Given the description of an element on the screen output the (x, y) to click on. 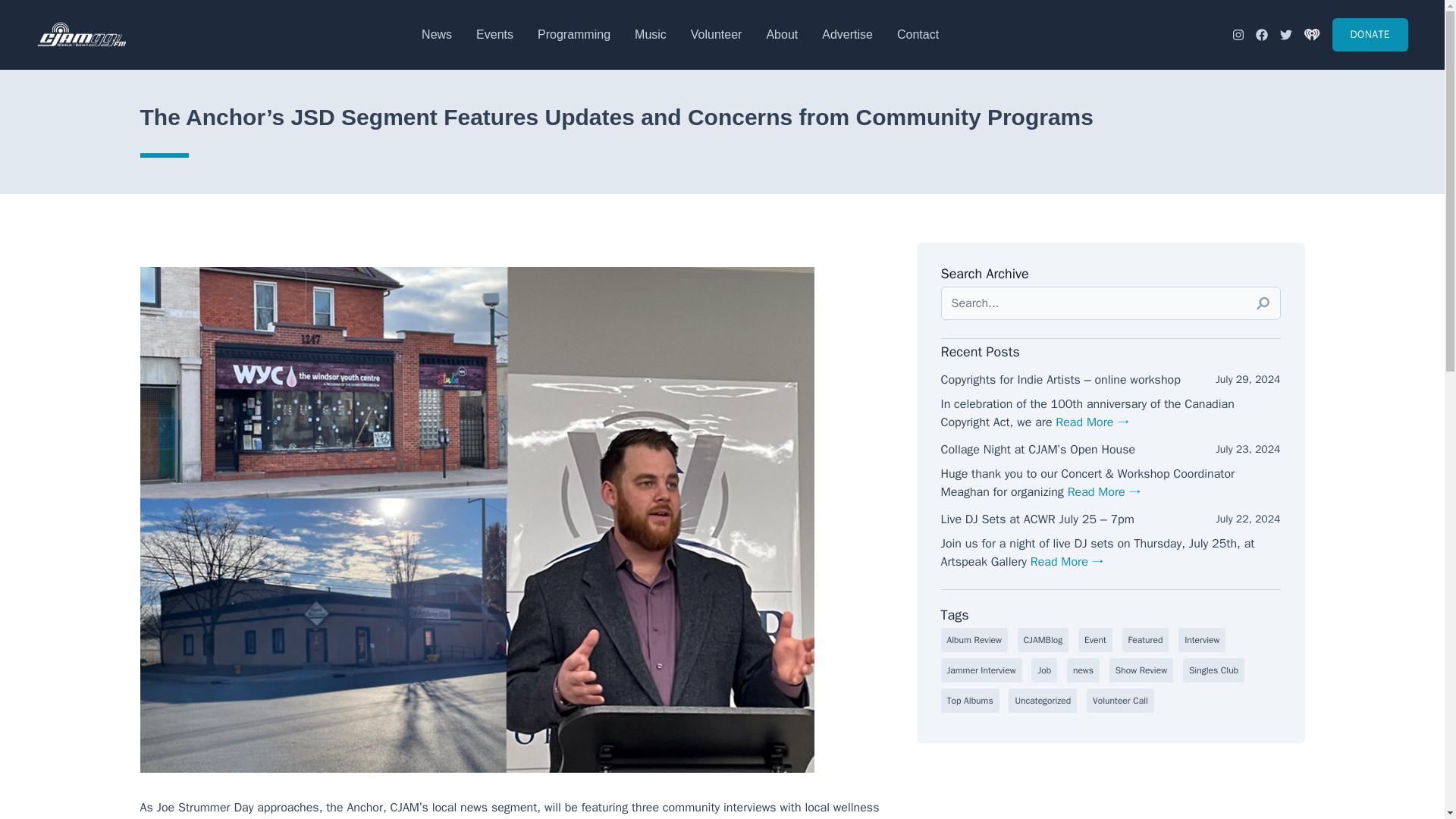
News (436, 33)
DONATE (1369, 34)
Volunteer (716, 33)
Events (494, 33)
Programming (573, 33)
Advertise (847, 33)
Music (650, 33)
Contact (917, 33)
About (781, 33)
